Given the description of an element on the screen output the (x, y) to click on. 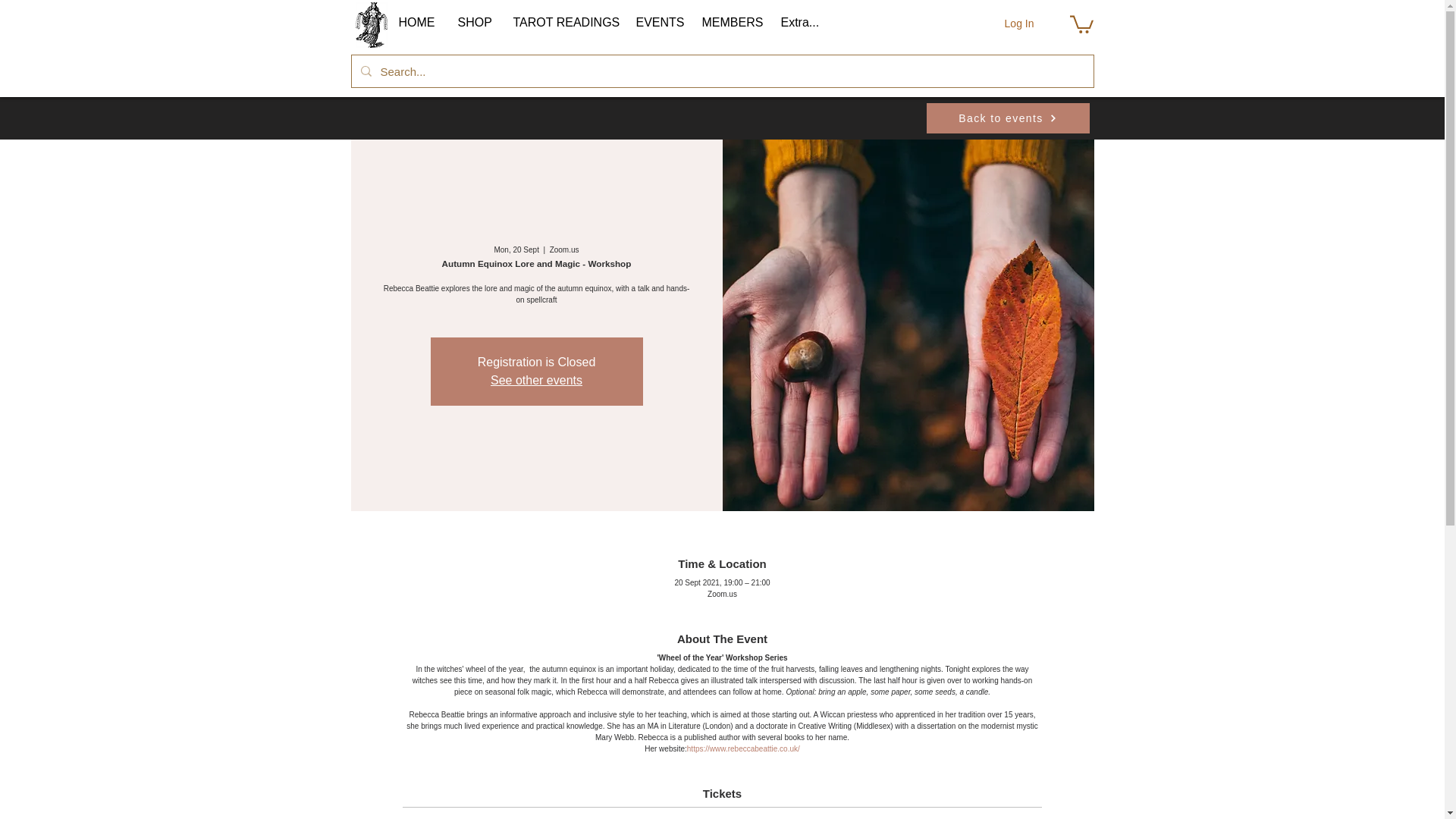
HOME (416, 22)
See other events (536, 379)
Back to events (1007, 118)
Log In (1019, 24)
